Given the description of an element on the screen output the (x, y) to click on. 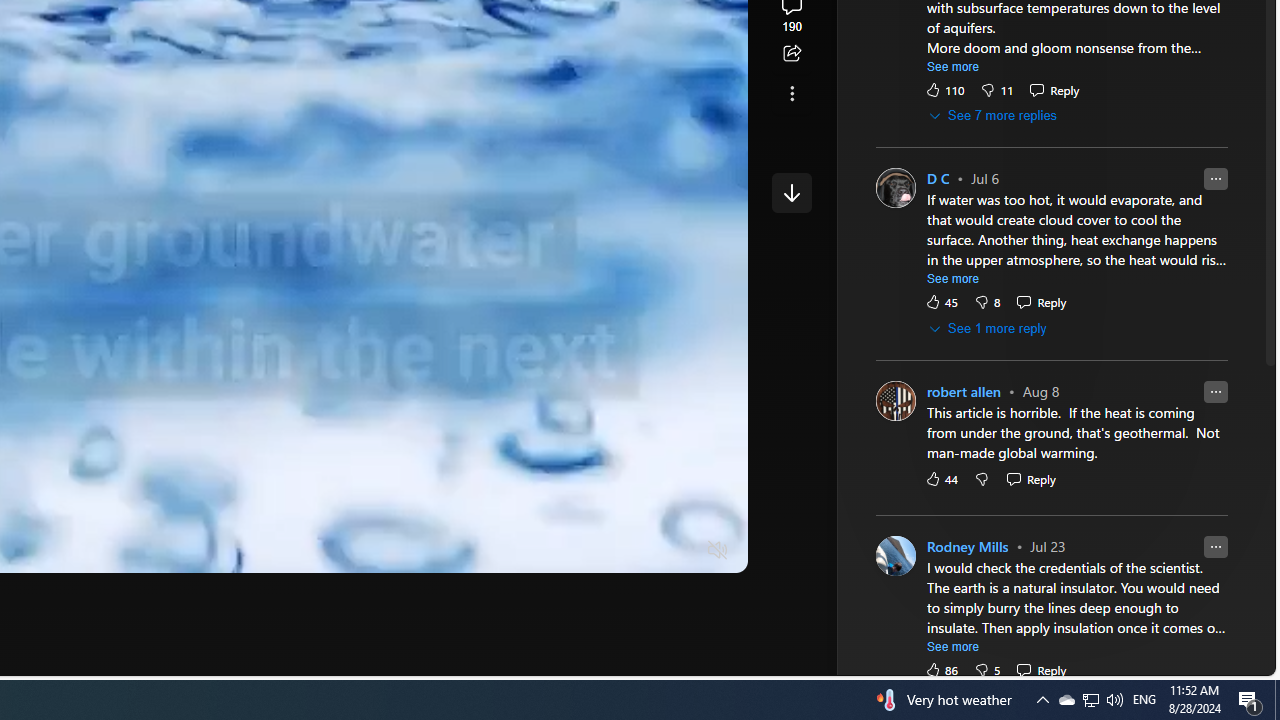
See more (953, 646)
Rodney Mills (967, 547)
Share this story (791, 53)
robert allen (964, 392)
See more (791, 93)
Report comment (1215, 546)
Fullscreen (680, 550)
Quality Settings (599, 550)
110 Like (944, 89)
D C (937, 179)
Feedback (1199, 659)
